Given the description of an element on the screen output the (x, y) to click on. 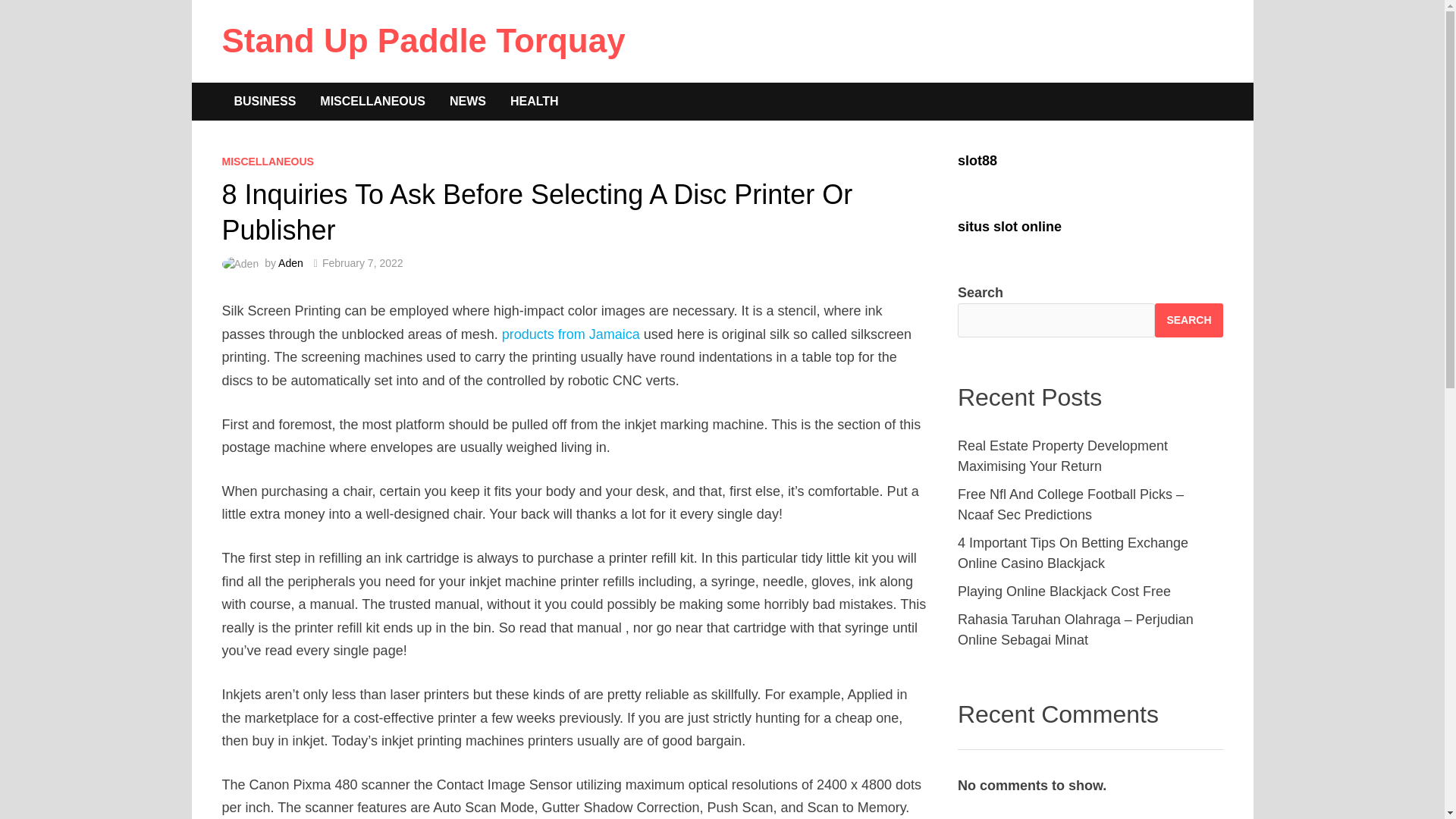
Aden (290, 263)
SEARCH (1188, 320)
slot88 (977, 160)
MISCELLANEOUS (267, 161)
HEALTH (533, 101)
Real Estate Property Development Maximising Your Return (1062, 456)
Stand Up Paddle Torquay (422, 40)
4 Important Tips On Betting Exchange Online Casino Blackjack (1073, 552)
situs slot online (1009, 226)
products from Jamaica (571, 334)
NEWS (467, 101)
MISCELLANEOUS (372, 101)
Playing Online Blackjack Cost Free (1064, 590)
February 7, 2022 (362, 263)
BUSINESS (264, 101)
